Given the description of an element on the screen output the (x, y) to click on. 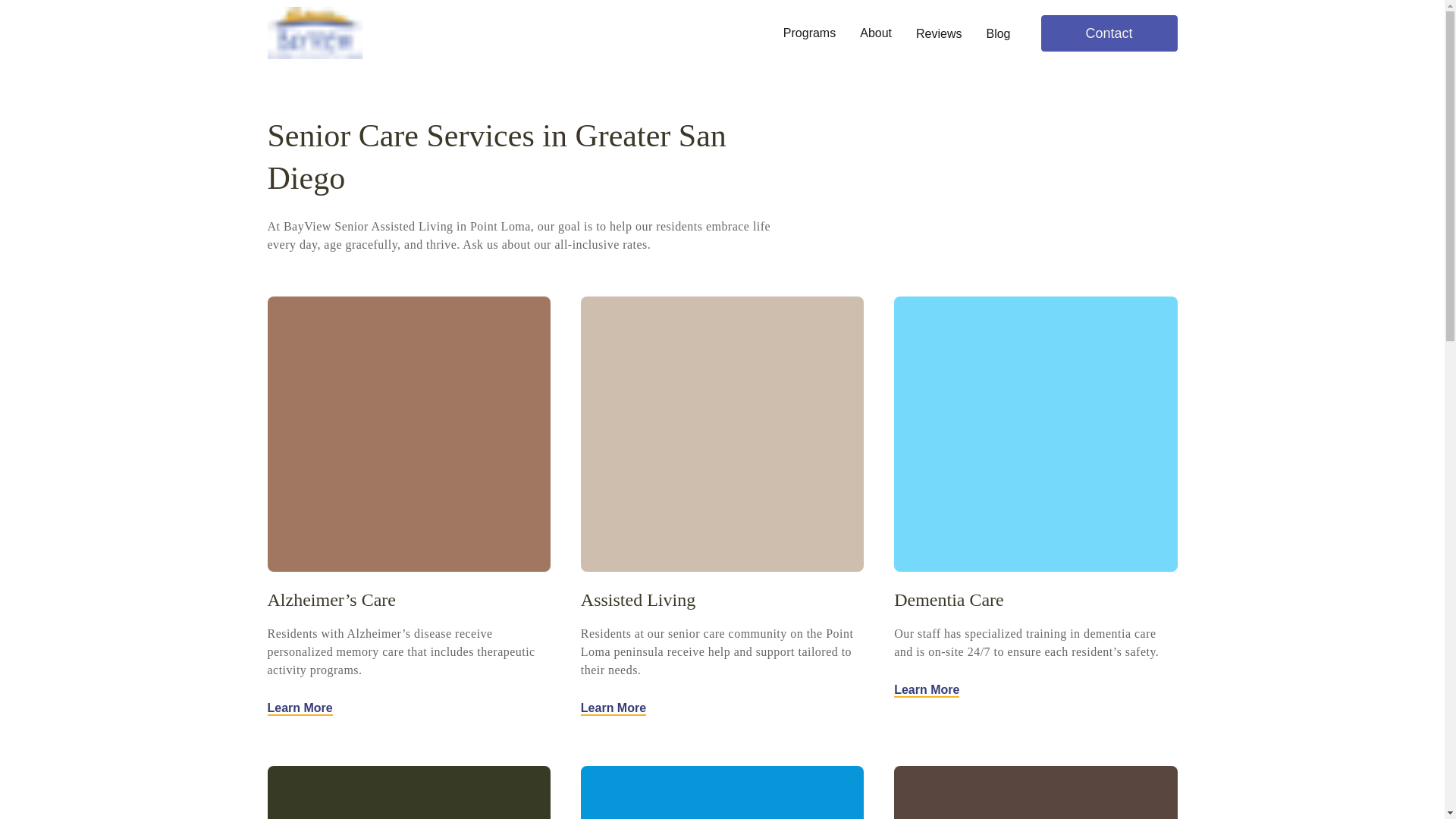
Contact (1109, 33)
Programs (809, 33)
About (875, 32)
Reviews (937, 32)
Learn More (298, 708)
Blog (997, 32)
Learn More (926, 690)
Learn More (613, 708)
